Given the description of an element on the screen output the (x, y) to click on. 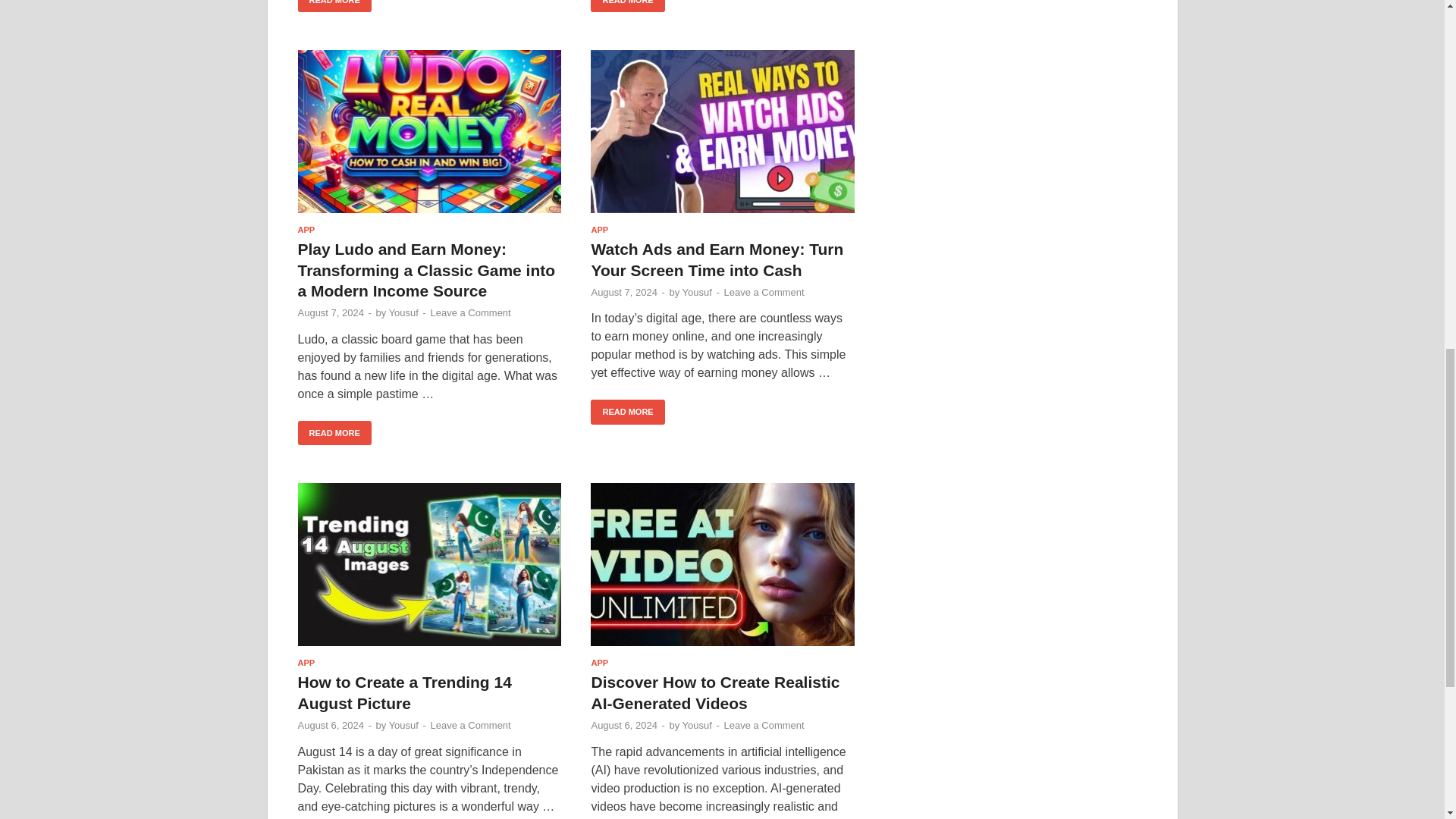
Discover How to Create Realistic AI-Generated Videos (722, 564)
READ MORE (334, 6)
How to Create a Trending 14 August Picture (428, 564)
Watch Ads and Earn Money: Turn Your Screen Time into Cash (722, 130)
